Given the description of an element on the screen output the (x, y) to click on. 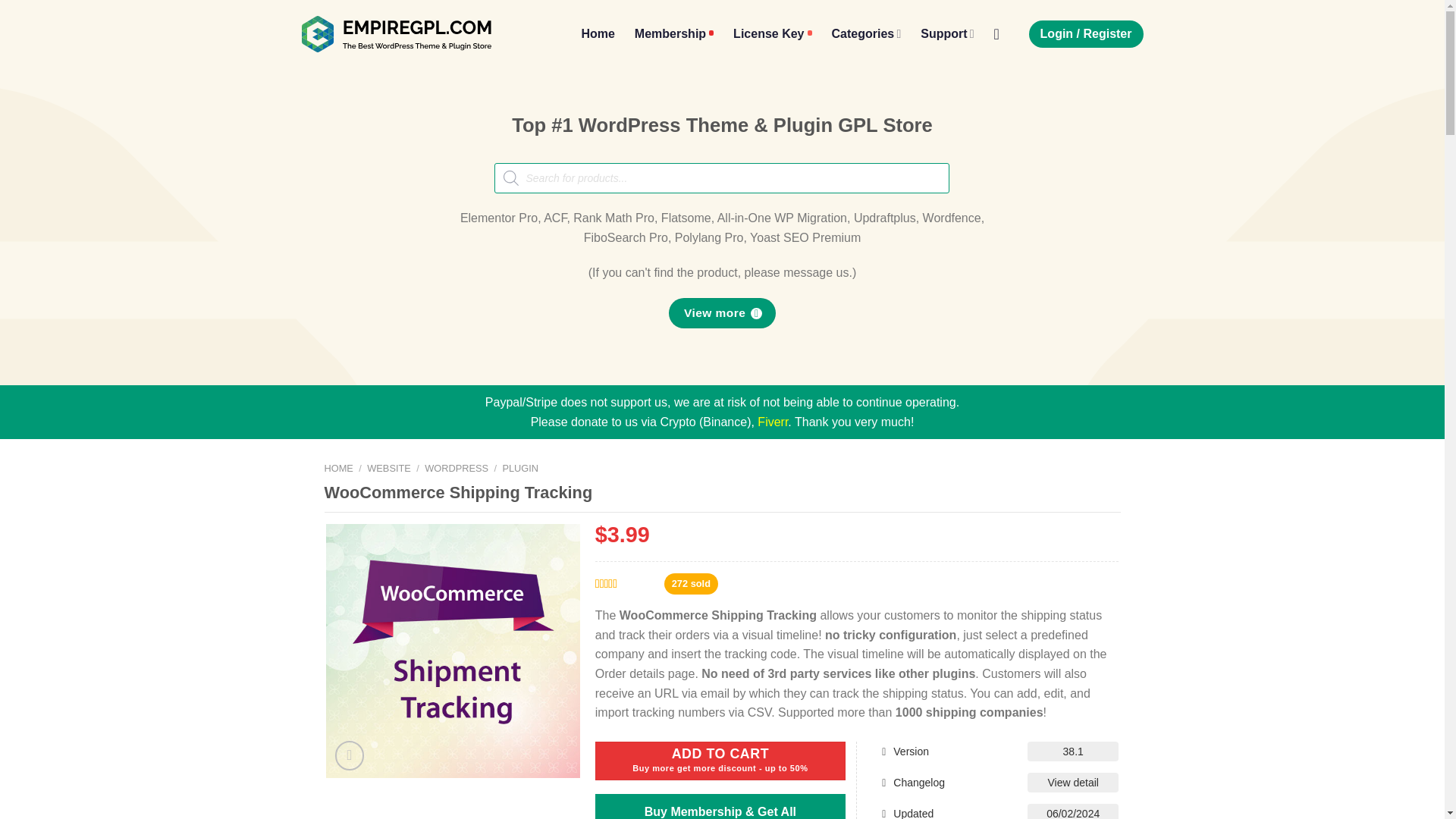
Fiverr (772, 421)
WEBSITE (388, 468)
Categories (866, 33)
Zoom (349, 755)
View more (721, 312)
WORDPRESS (456, 468)
PLUGIN (520, 468)
Login (1085, 33)
HOME (338, 468)
View detail (1072, 782)
License Key (771, 33)
changelog (1072, 782)
Hot (673, 33)
Membership (673, 33)
